Given the description of an element on the screen output the (x, y) to click on. 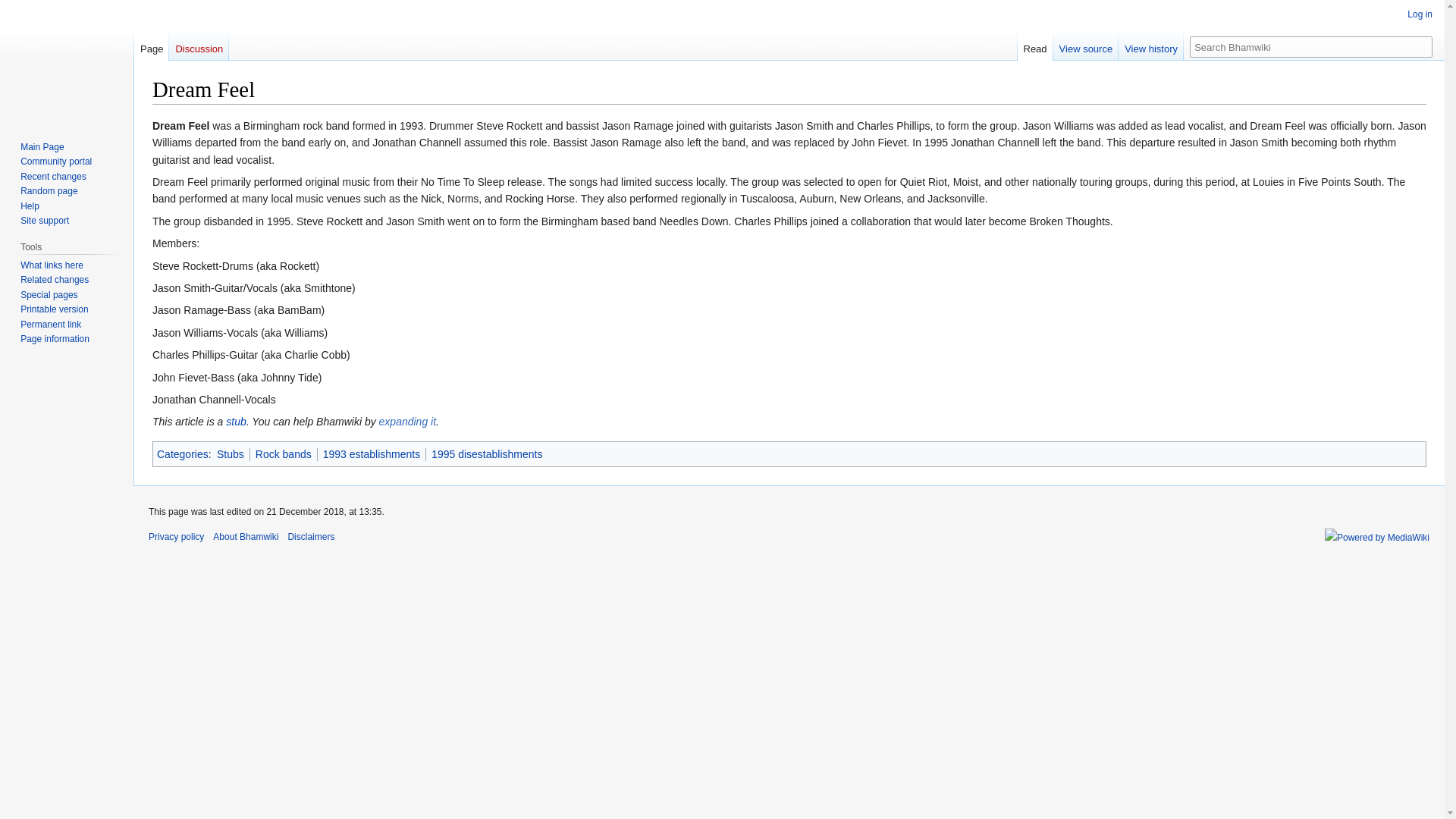
Search the pages for this text (1420, 46)
Categories (182, 453)
Stubs (230, 453)
expanding it (407, 421)
Go (1420, 46)
Special pages (48, 294)
stub (235, 421)
What links here (51, 265)
About Bhamwiki (245, 536)
Site support (44, 220)
